Given the description of an element on the screen output the (x, y) to click on. 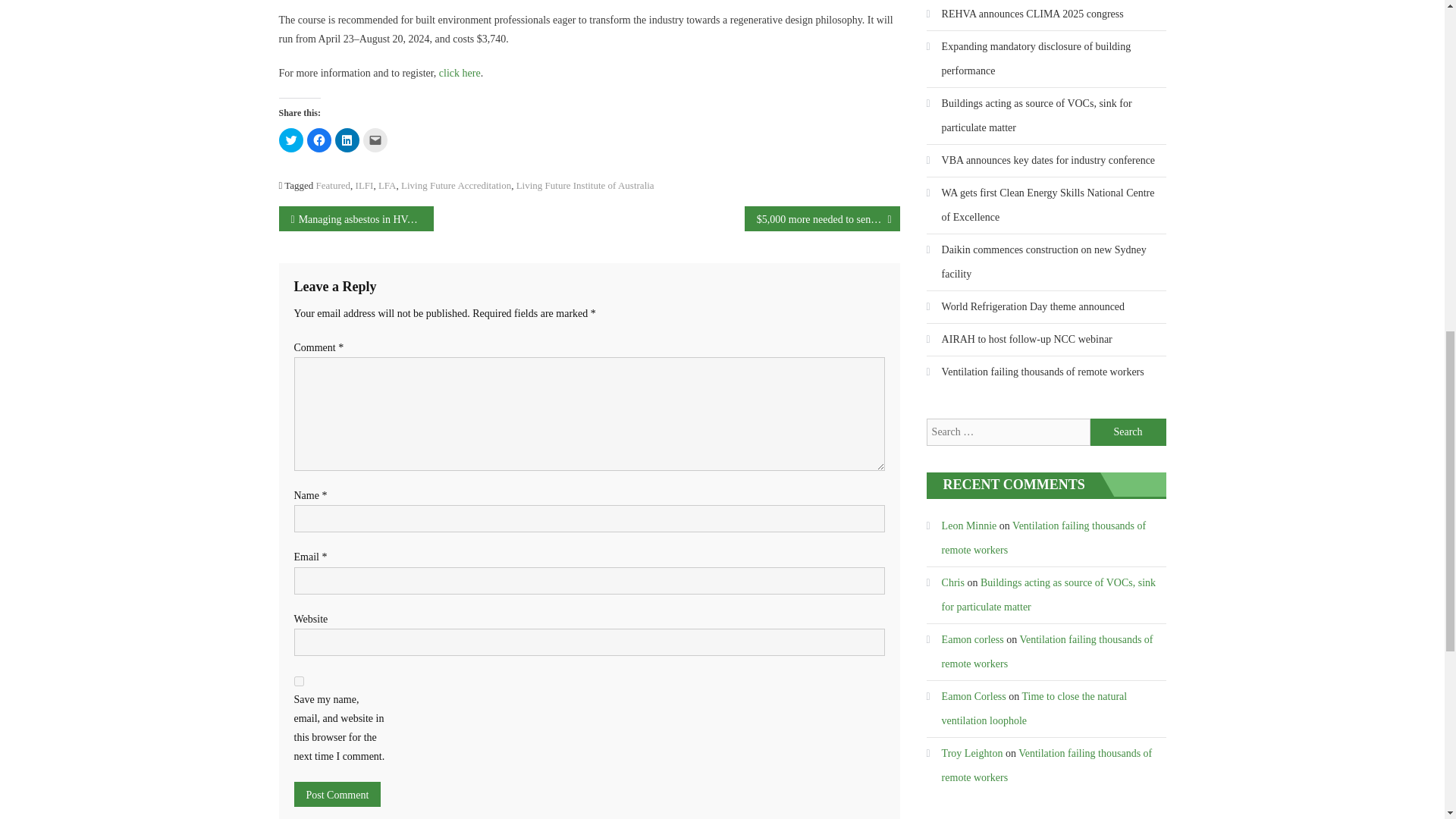
Post Comment (337, 794)
Search (1128, 431)
yes (299, 681)
Click to email a link to a friend (374, 139)
Featured (332, 184)
Click to share on Twitter (290, 139)
Living Future Accreditation (456, 184)
click here (459, 72)
Search (1128, 431)
LFA (387, 184)
